Given the description of an element on the screen output the (x, y) to click on. 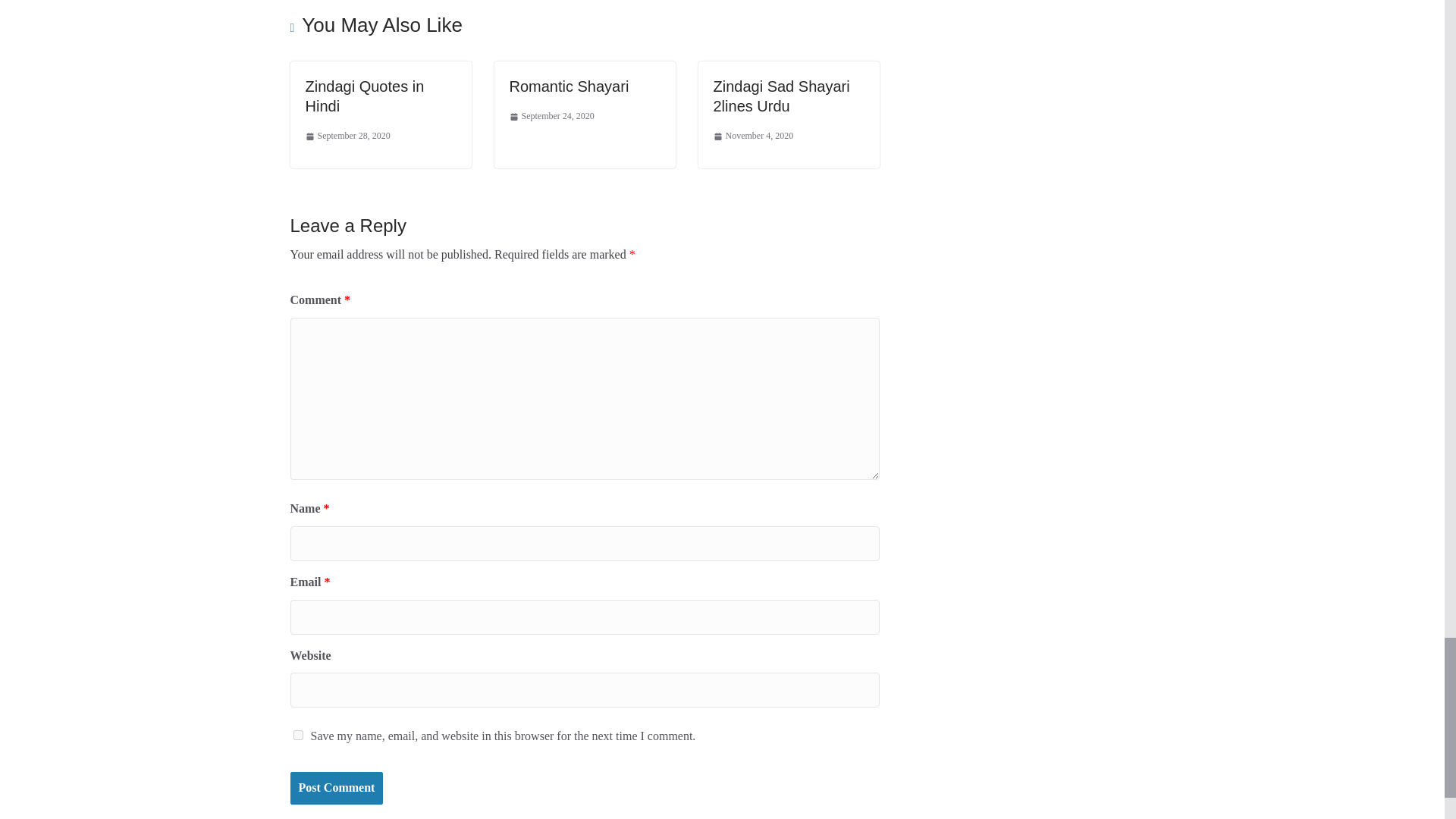
yes (297, 735)
Post Comment (335, 788)
